Given the description of an element on the screen output the (x, y) to click on. 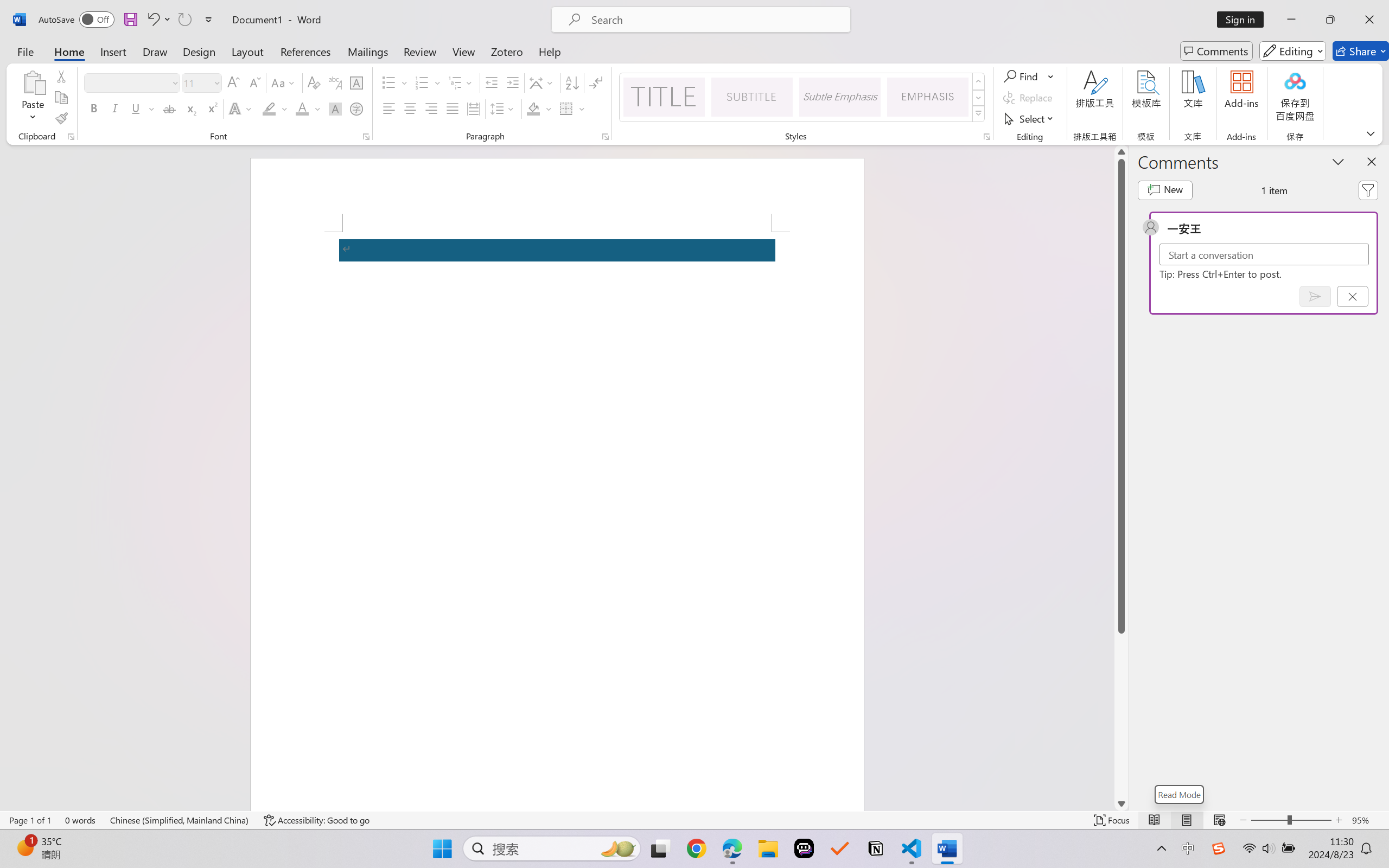
Post comment (Ctrl + Enter) (1315, 296)
